Given the description of an element on the screen output the (x, y) to click on. 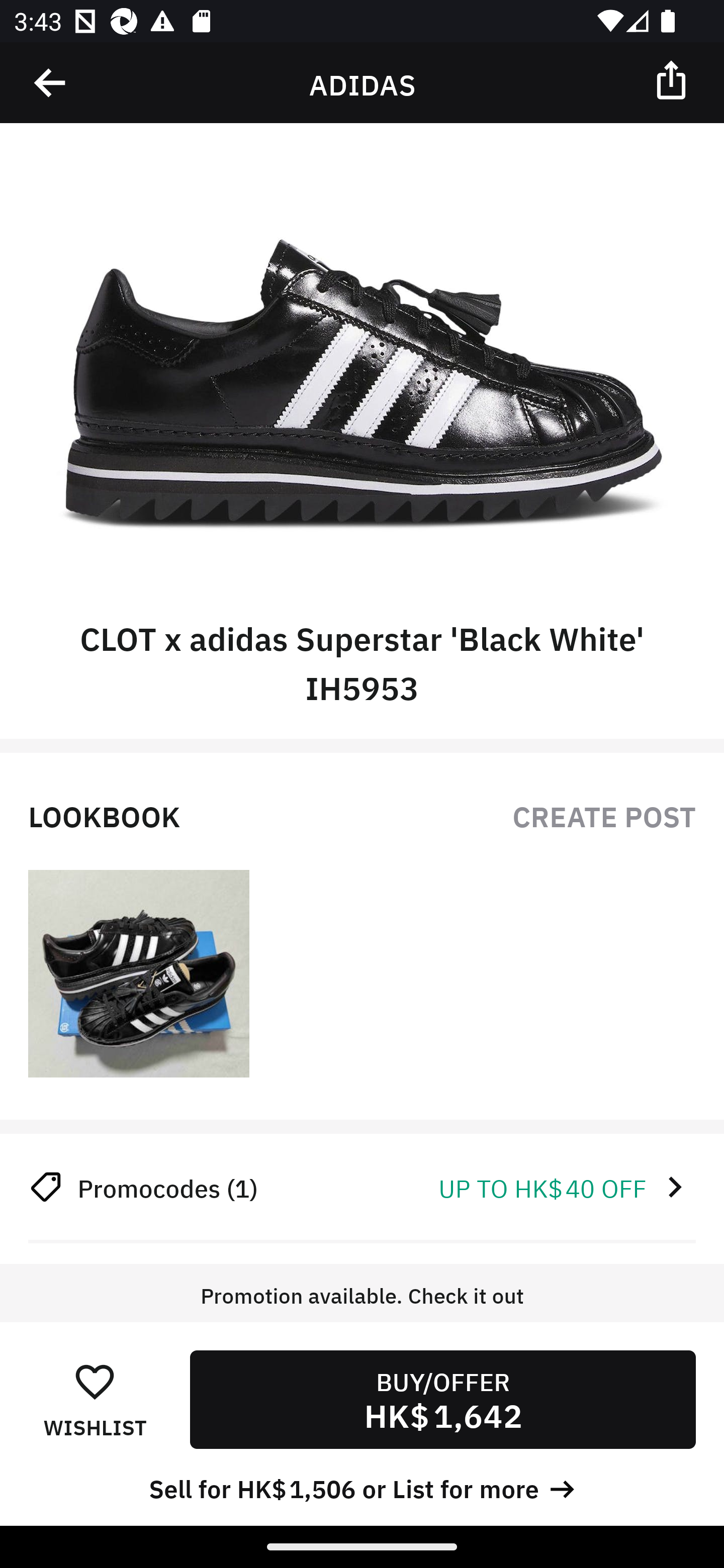
 (50, 83)
 (672, 79)
CREATE POST (603, 814)
Promocodes (1) UP TO HK$ 40 OFF  (361, 1186)
BUY/OFFER HK$ 1,642 (442, 1399)
󰋕 (94, 1380)
Sell for HK$ 1,506 or List for more (361, 1486)
